Given the description of an element on the screen output the (x, y) to click on. 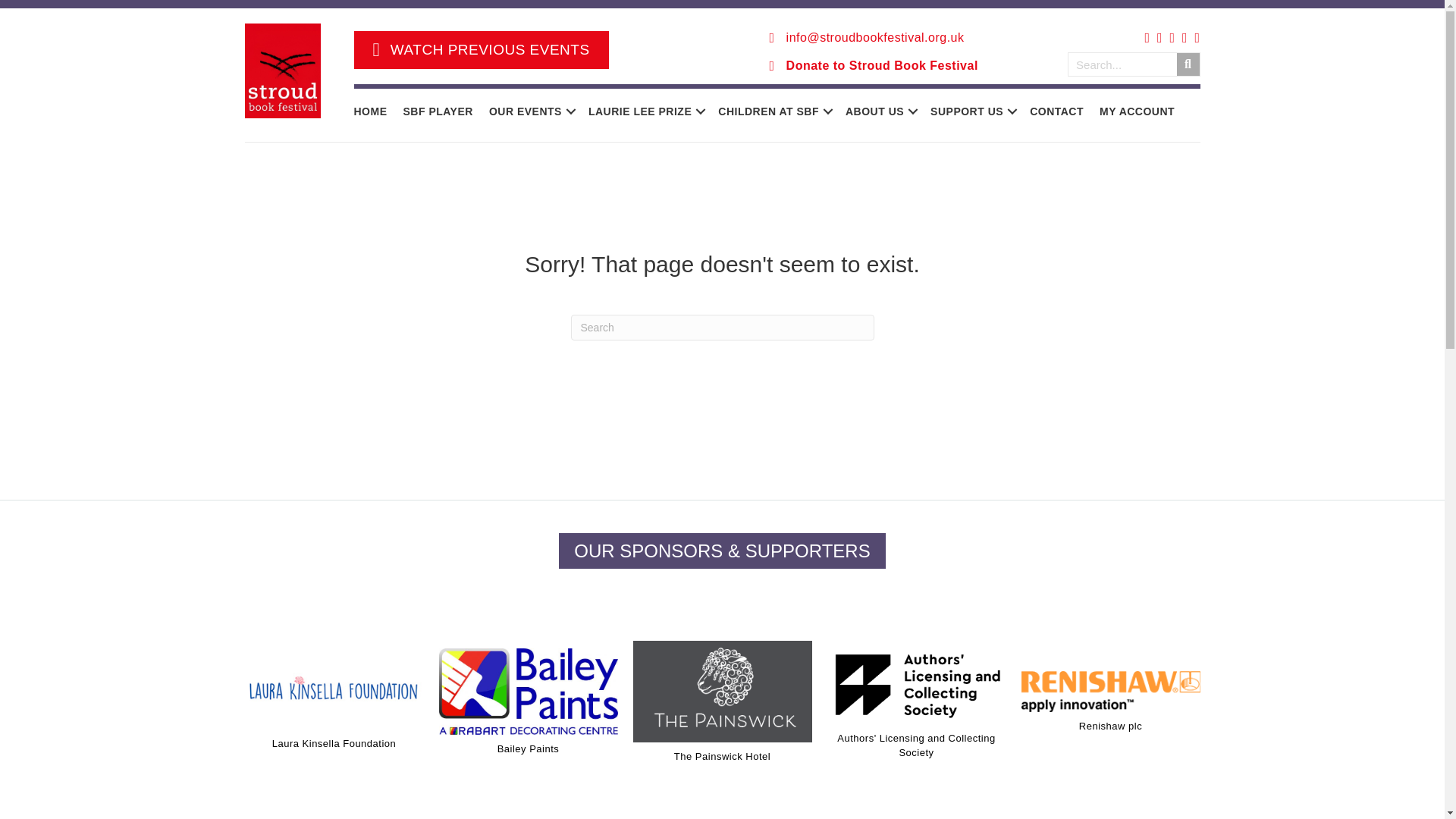
Search (1122, 64)
SBF PLAYER (438, 111)
WATCH PREVIOUS EVENTS (480, 50)
ABOUT US (879, 111)
Type and press Enter to search. (721, 327)
HOME (370, 111)
CHILDREN AT SBF (773, 111)
Donate to Stroud Book Festival (882, 65)
OUR EVENTS (530, 111)
LAURIE LEE PRIZE (645, 111)
